Given the description of an element on the screen output the (x, y) to click on. 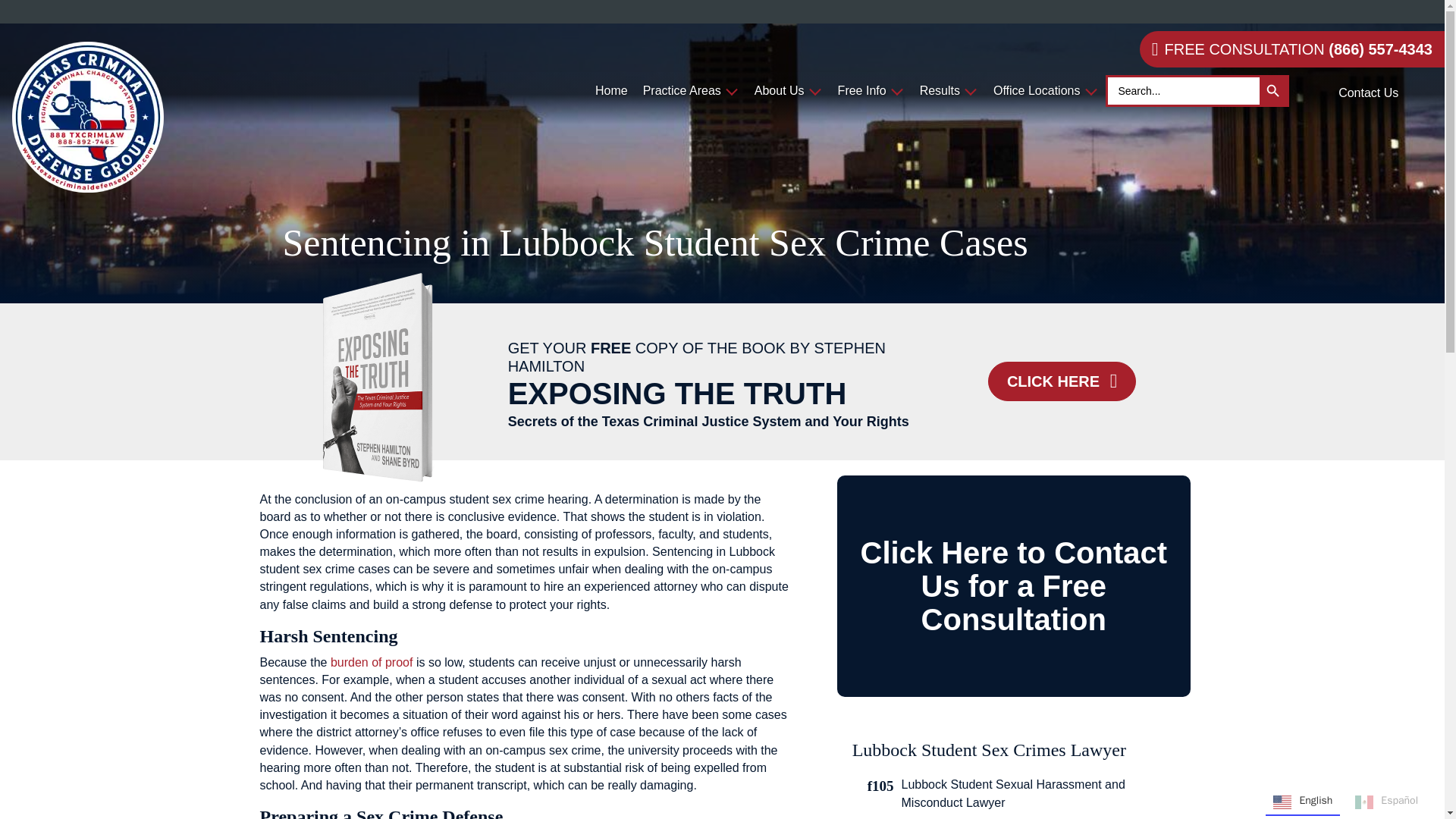
Results (948, 90)
English (660, 12)
logo-svg (87, 116)
Free Info (870, 90)
Practice Areas (690, 90)
Office Locations (1045, 90)
Home (611, 90)
About Us (787, 90)
